Given the description of an element on the screen output the (x, y) to click on. 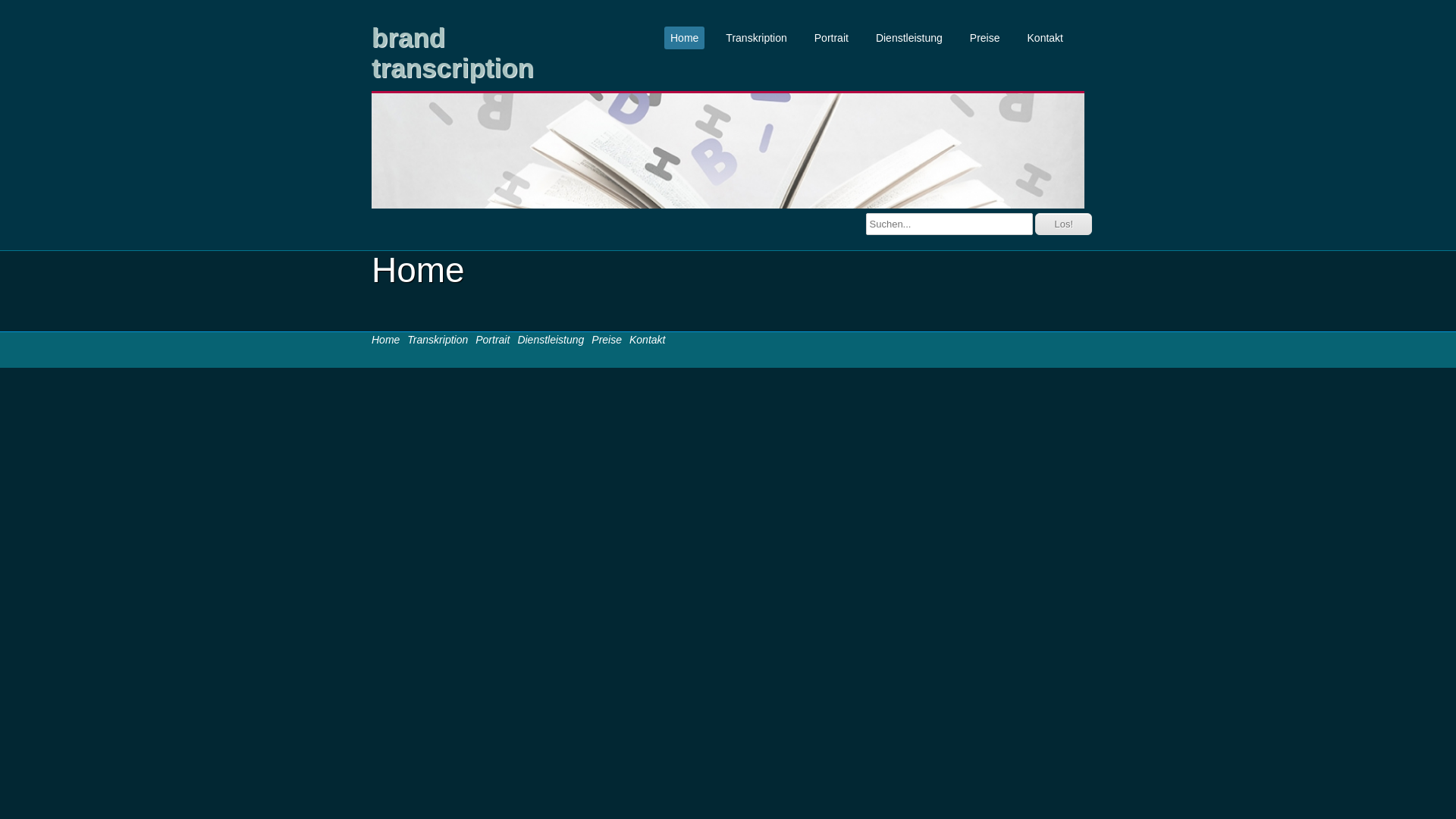
Transkription Element type: text (755, 37)
Kontakt Element type: text (647, 339)
Los! Element type: text (1063, 224)
brand transcription Element type: text (477, 52)
Home Element type: text (385, 339)
Kontakt Element type: text (1045, 37)
Portrait Element type: text (492, 339)
Dienstleistung Element type: text (550, 339)
Preise Element type: text (984, 37)
Preise Element type: text (606, 339)
Transkription Element type: text (437, 339)
Home Element type: text (684, 37)
Dienstleistung Element type: text (908, 37)
Portrait Element type: text (831, 37)
